Given the description of an element on the screen output the (x, y) to click on. 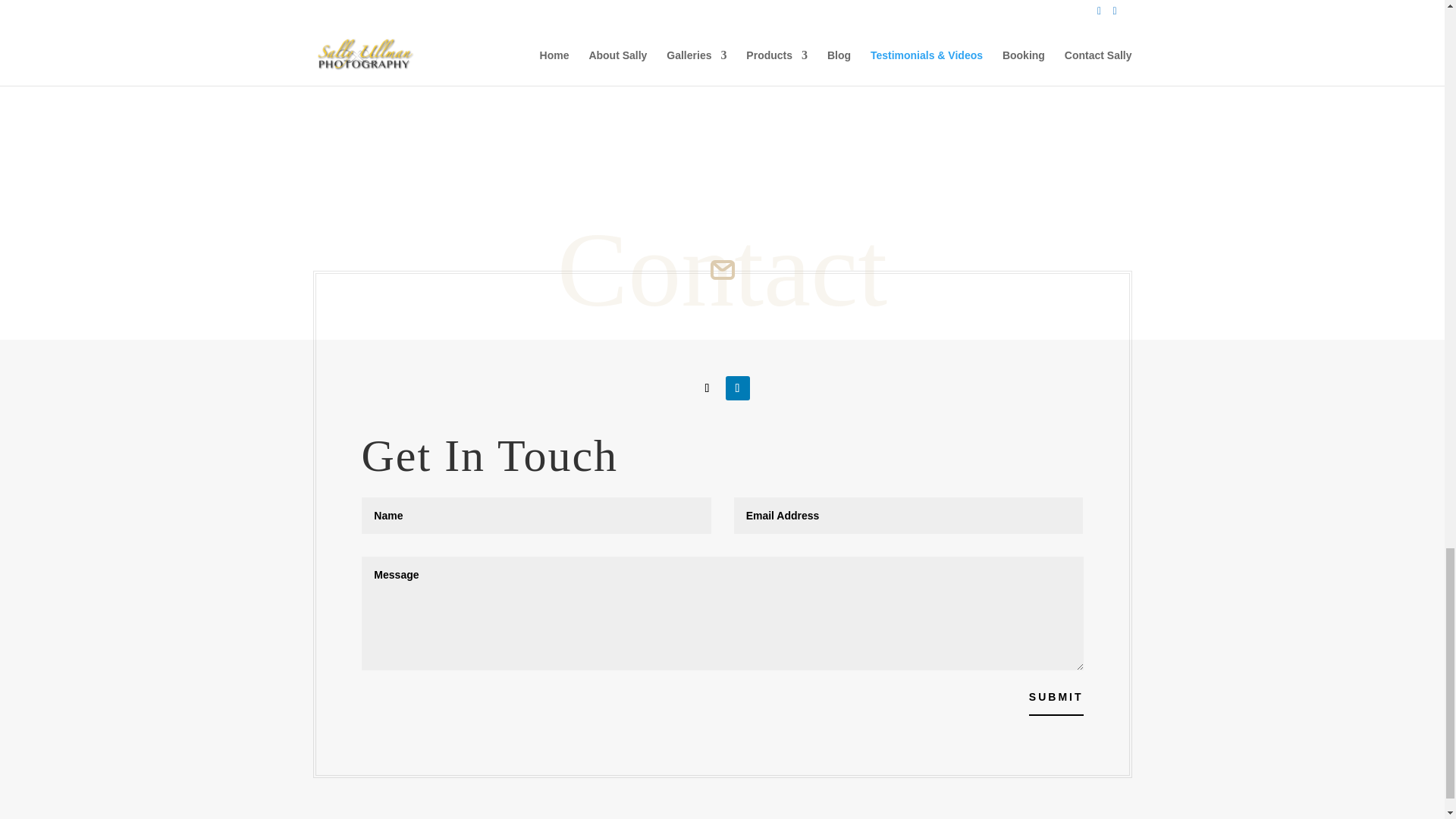
Follow on Facebook (706, 387)
wedding-photographer-icon-8-gold (721, 269)
Follow on LinkedIn (737, 387)
